Given the description of an element on the screen output the (x, y) to click on. 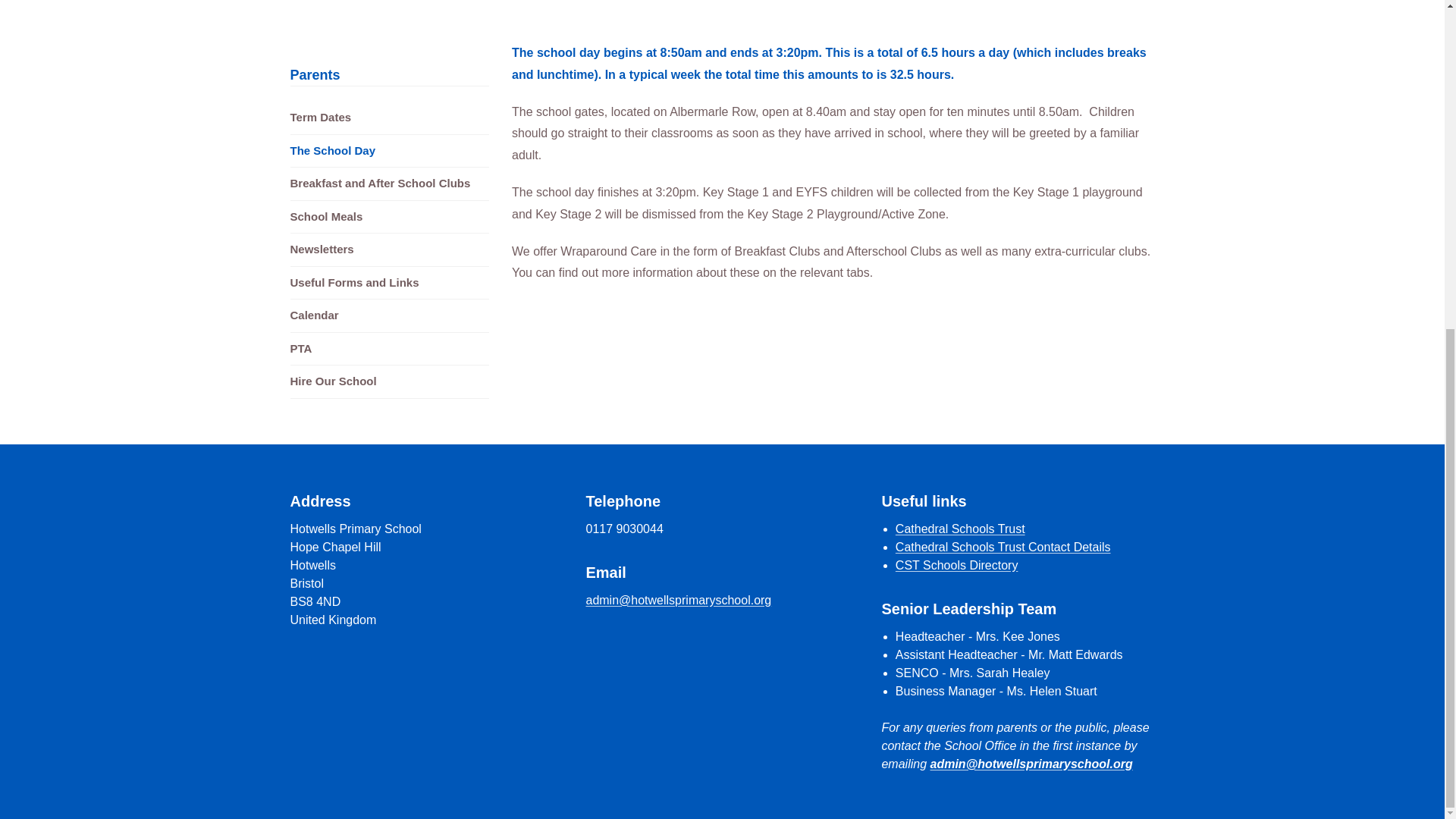
Parents (314, 74)
